Given the description of an element on the screen output the (x, y) to click on. 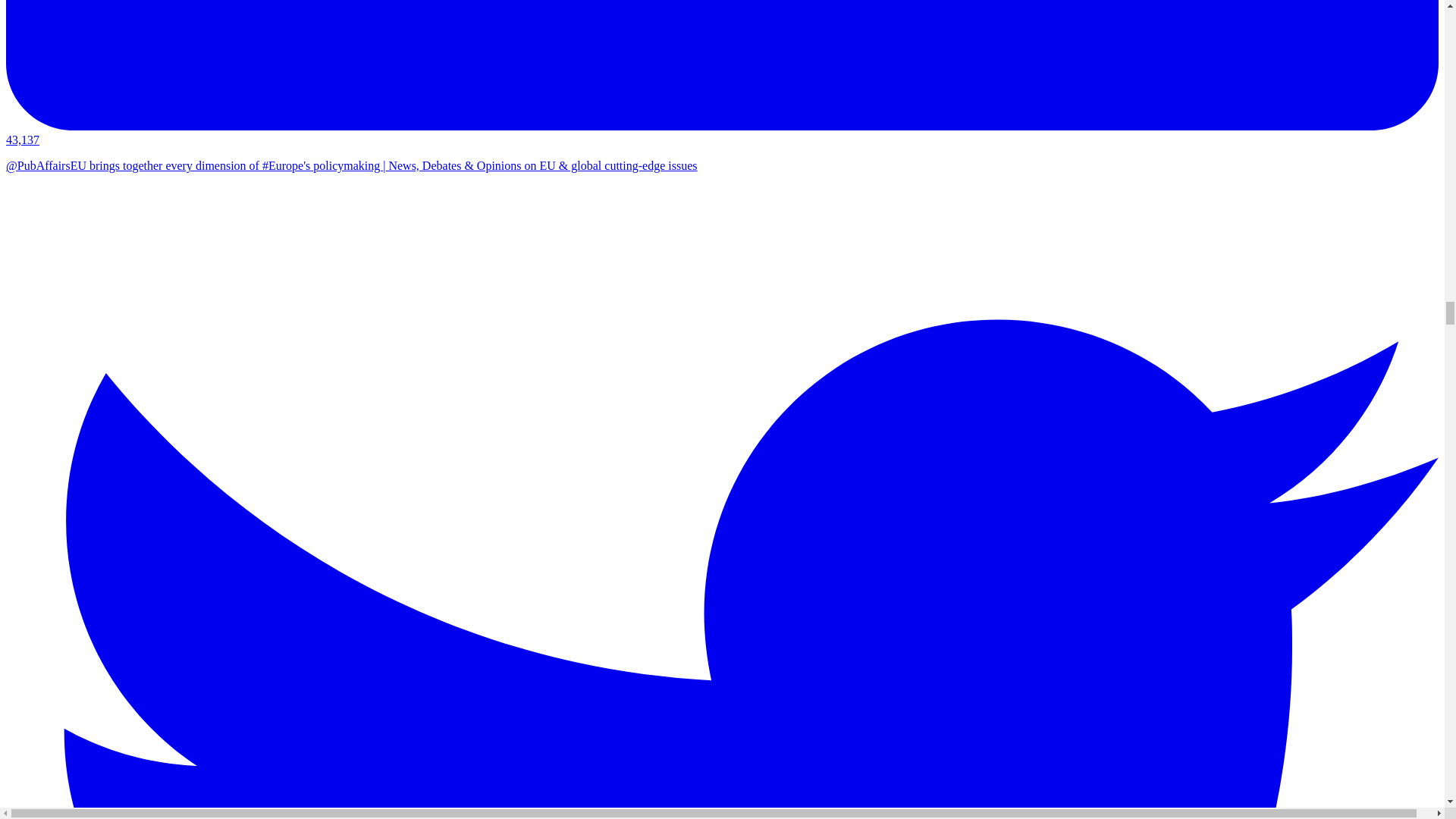
43,137 Followers (721, 132)
